Given the description of an element on the screen output the (x, y) to click on. 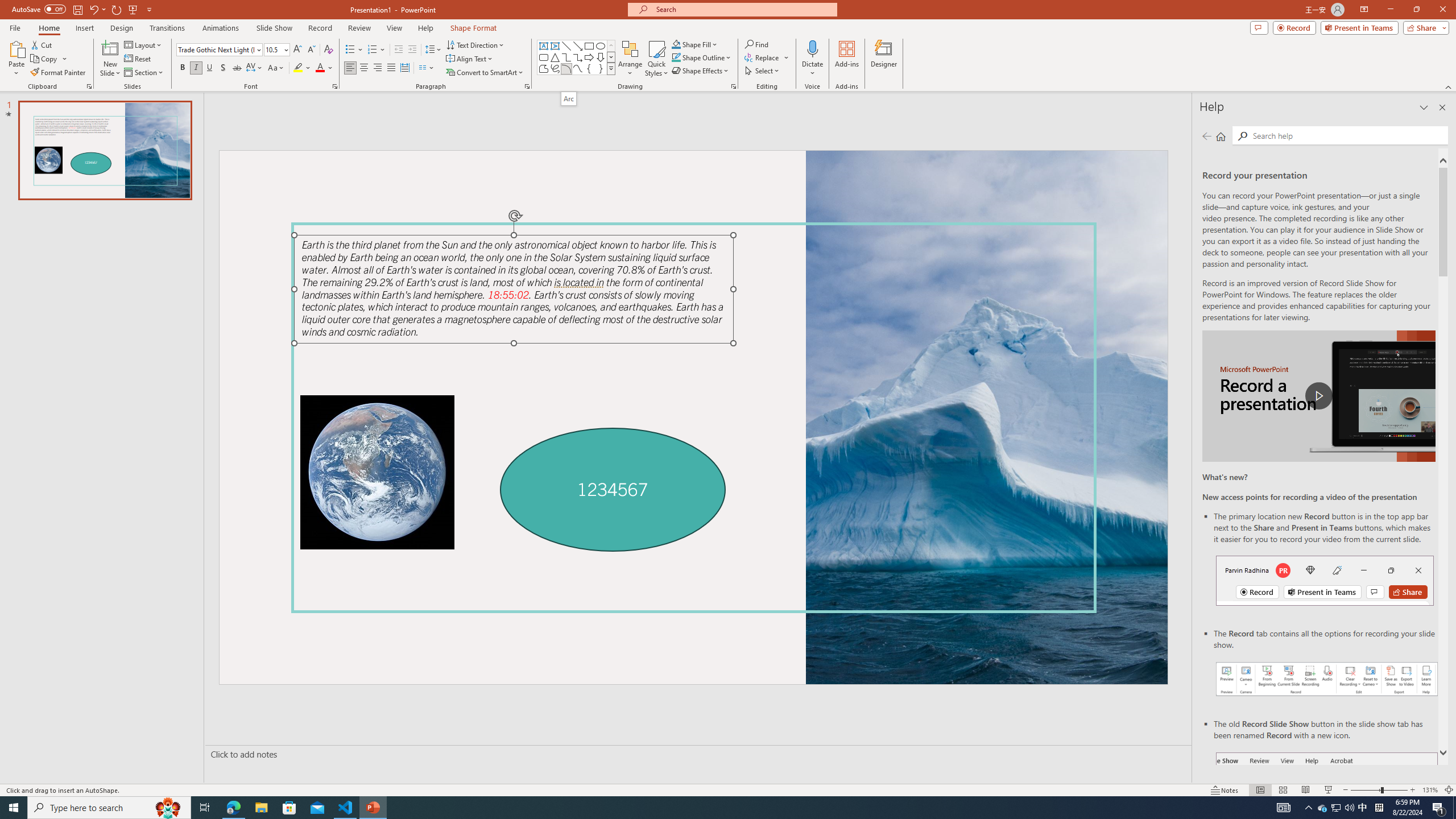
Zoom 131% (1430, 790)
Shape Effects (700, 69)
